Given the description of an element on the screen output the (x, y) to click on. 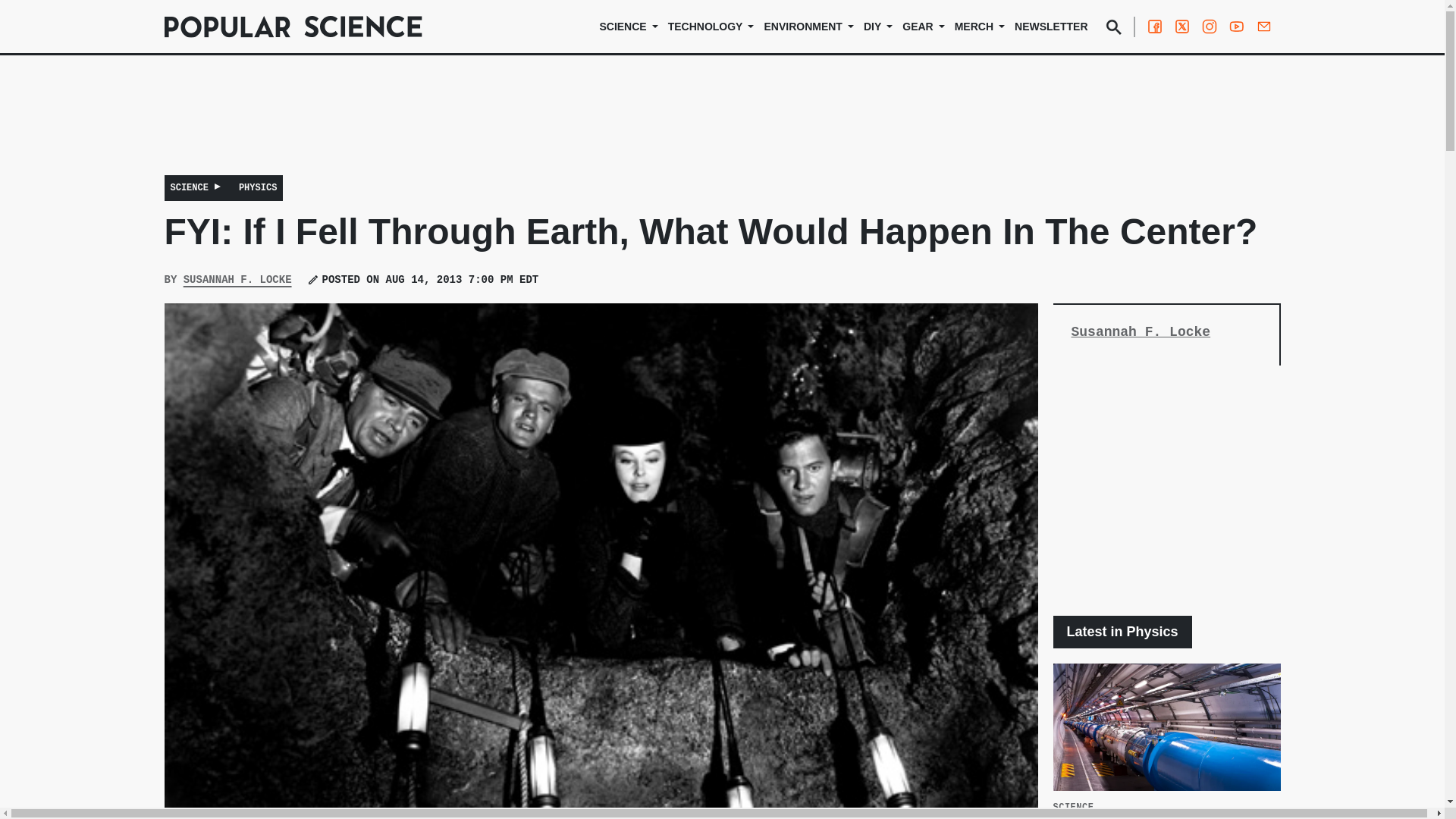
3rd party ad content (1165, 490)
3rd party ad content (721, 125)
